Given the description of an element on the screen output the (x, y) to click on. 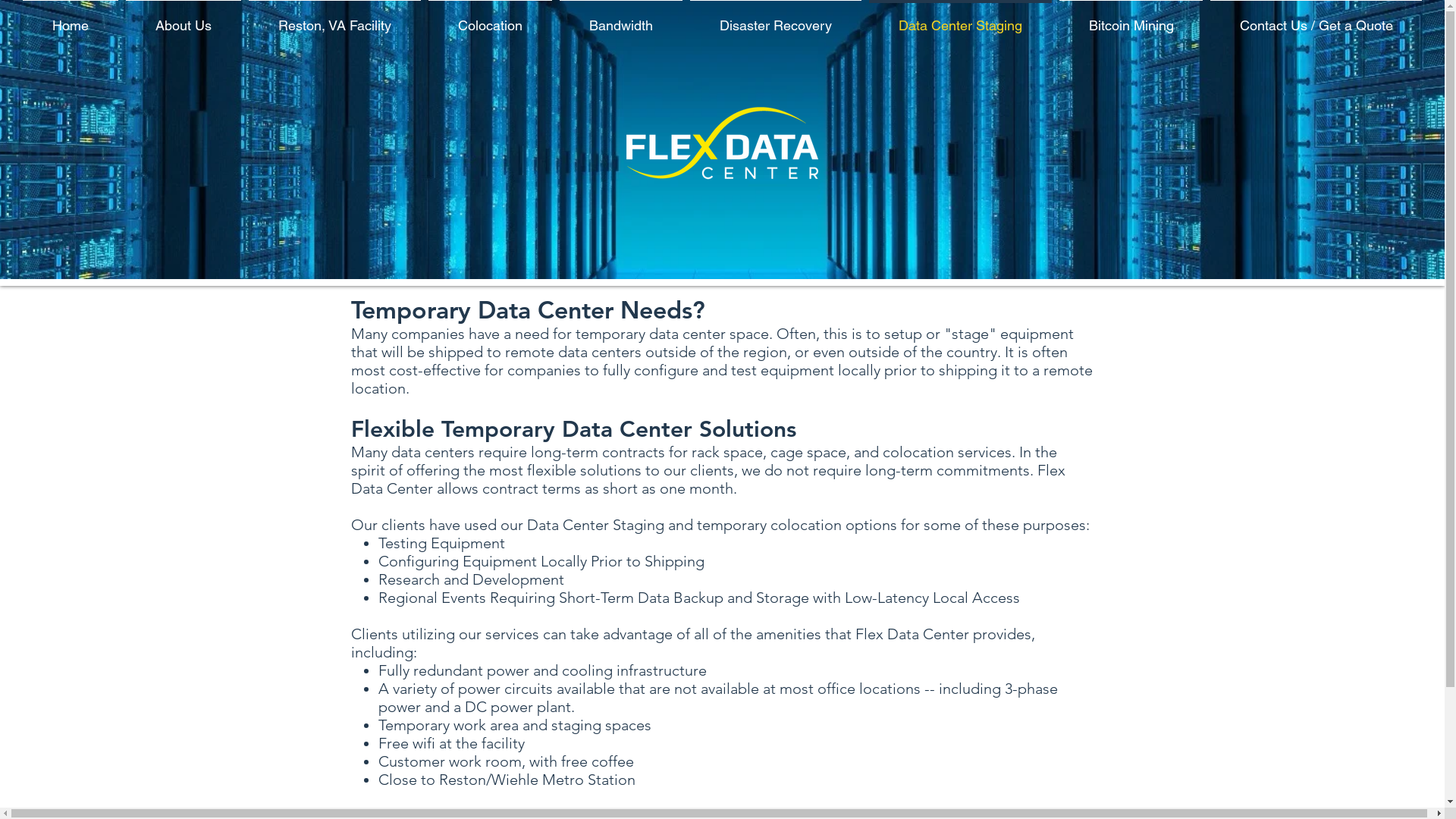
Home Element type: text (70, 18)
Bitcoin Mining Element type: text (1130, 18)
About Us Element type: text (183, 18)
Disaster Recovery Element type: text (775, 18)
Data Center Staging Element type: text (960, 18)
Reston, VA Facility Element type: text (334, 18)
Colocation Element type: text (489, 18)
Bandwidth Element type: text (620, 18)
Contact Us / Get a Quote Element type: text (1315, 18)
